Given the description of an element on the screen output the (x, y) to click on. 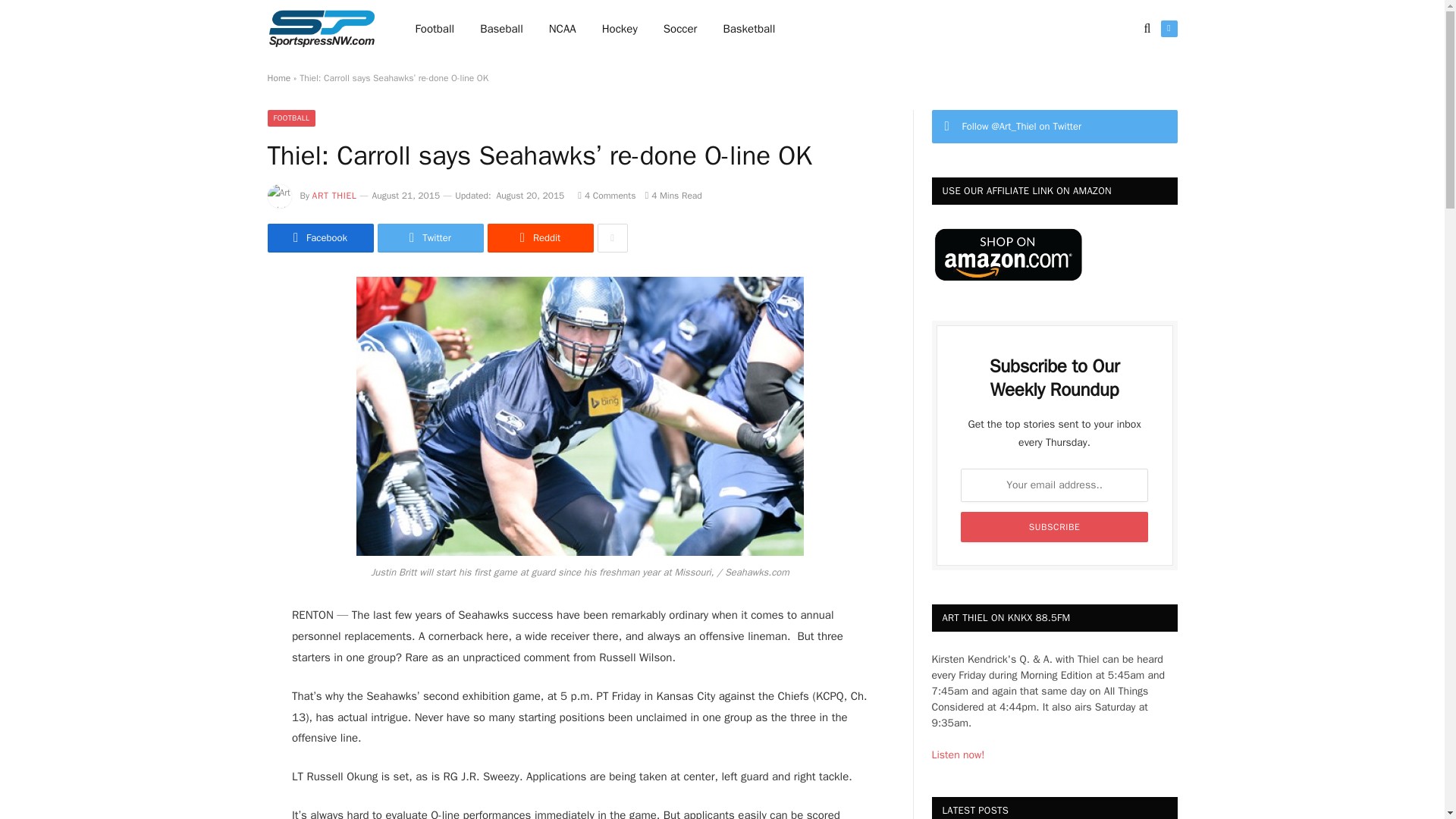
Football (435, 28)
Share on Reddit (539, 237)
Soccer (680, 28)
Posts by Art Thiel (334, 195)
Baseball (501, 28)
Hockey (619, 28)
Home (277, 78)
FOOTBALL (290, 117)
Basketball (748, 28)
Subscribe (1053, 526)
Reddit (539, 237)
NCAA (562, 28)
Share on Twitter (430, 237)
4 Comments (606, 195)
ART THIEL (334, 195)
